Given the description of an element on the screen output the (x, y) to click on. 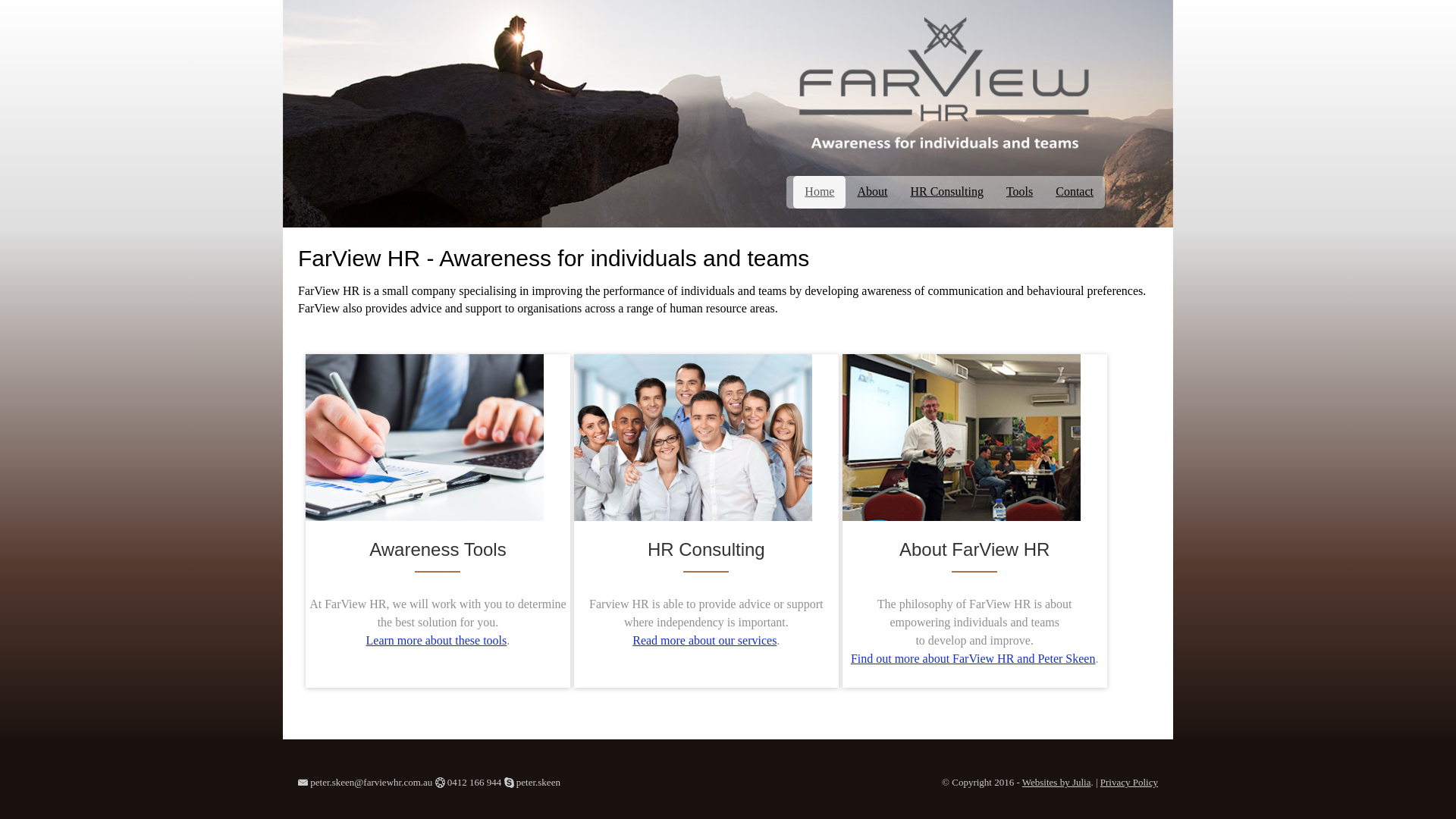
Learn more about these tools Element type: text (436, 639)
Read more about our services Element type: text (704, 639)
Privacy Policy Element type: text (1128, 781)
About Element type: text (871, 191)
Websites by Julia Element type: text (1056, 781)
Home Element type: text (819, 191)
Tools Element type: text (1019, 191)
Contact Element type: text (1074, 191)
Find out more about FarView HR and Peter Skeen Element type: text (972, 658)
HR Consulting Element type: text (946, 191)
